Given the description of an element on the screen output the (x, y) to click on. 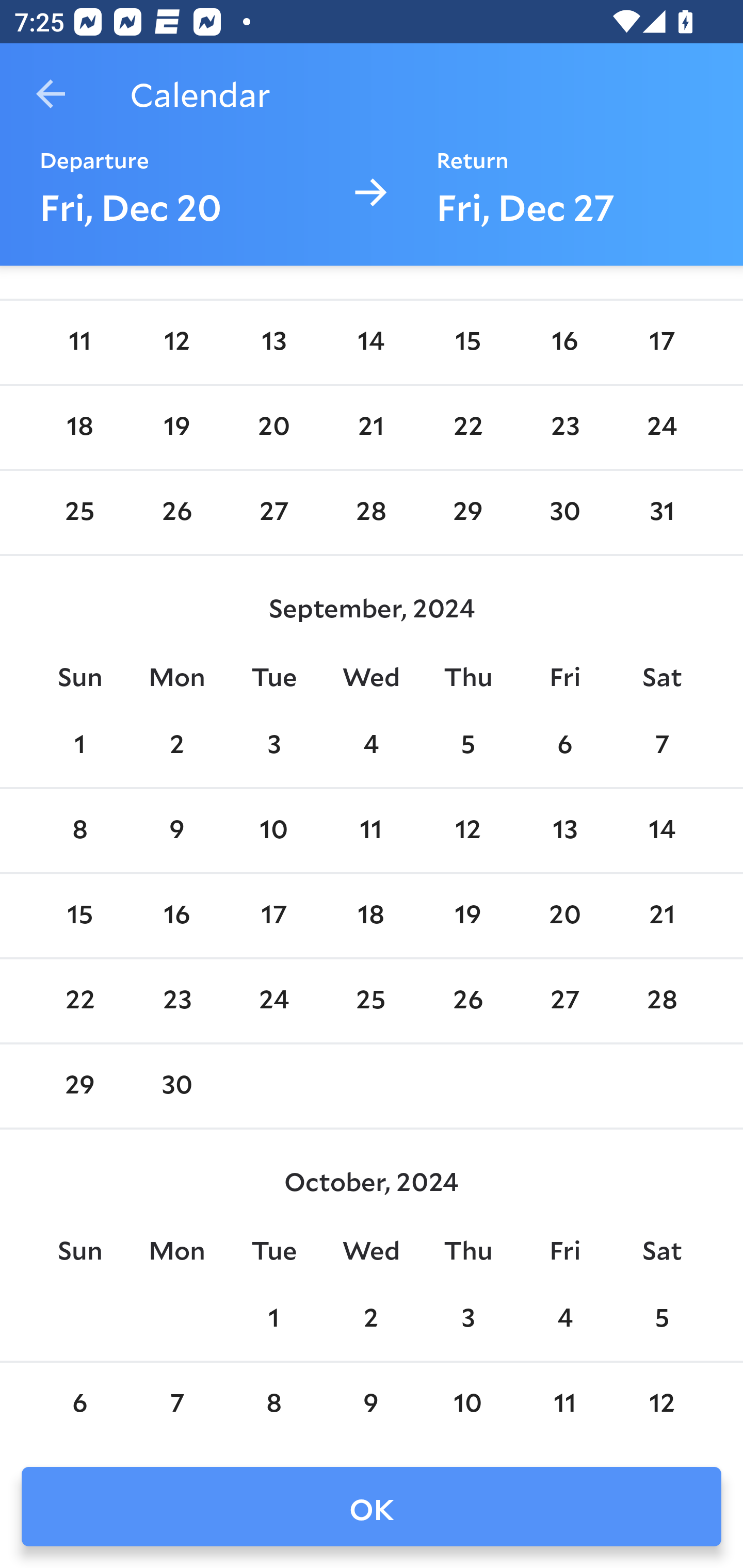
Navigate up (50, 93)
11 (79, 341)
12 (177, 341)
13 (273, 341)
14 (371, 341)
15 (467, 341)
16 (565, 341)
17 (661, 341)
18 (79, 428)
19 (177, 428)
20 (273, 428)
21 (371, 428)
22 (467, 428)
23 (565, 428)
24 (661, 428)
25 (79, 512)
26 (177, 512)
27 (273, 512)
28 (371, 512)
29 (467, 512)
30 (565, 512)
31 (661, 512)
1 (79, 746)
2 (177, 746)
3 (273, 746)
4 (371, 746)
5 (467, 746)
6 (565, 746)
7 (661, 746)
8 (79, 830)
9 (177, 830)
10 (273, 830)
11 (371, 830)
12 (467, 830)
13 (565, 830)
14 (661, 830)
15 (79, 915)
16 (177, 915)
17 (273, 915)
18 (371, 915)
19 (467, 915)
20 (565, 915)
21 (661, 915)
22 (79, 1001)
23 (177, 1001)
24 (273, 1001)
25 (371, 1001)
26 (467, 1001)
27 (565, 1001)
28 (661, 1001)
